Given the description of an element on the screen output the (x, y) to click on. 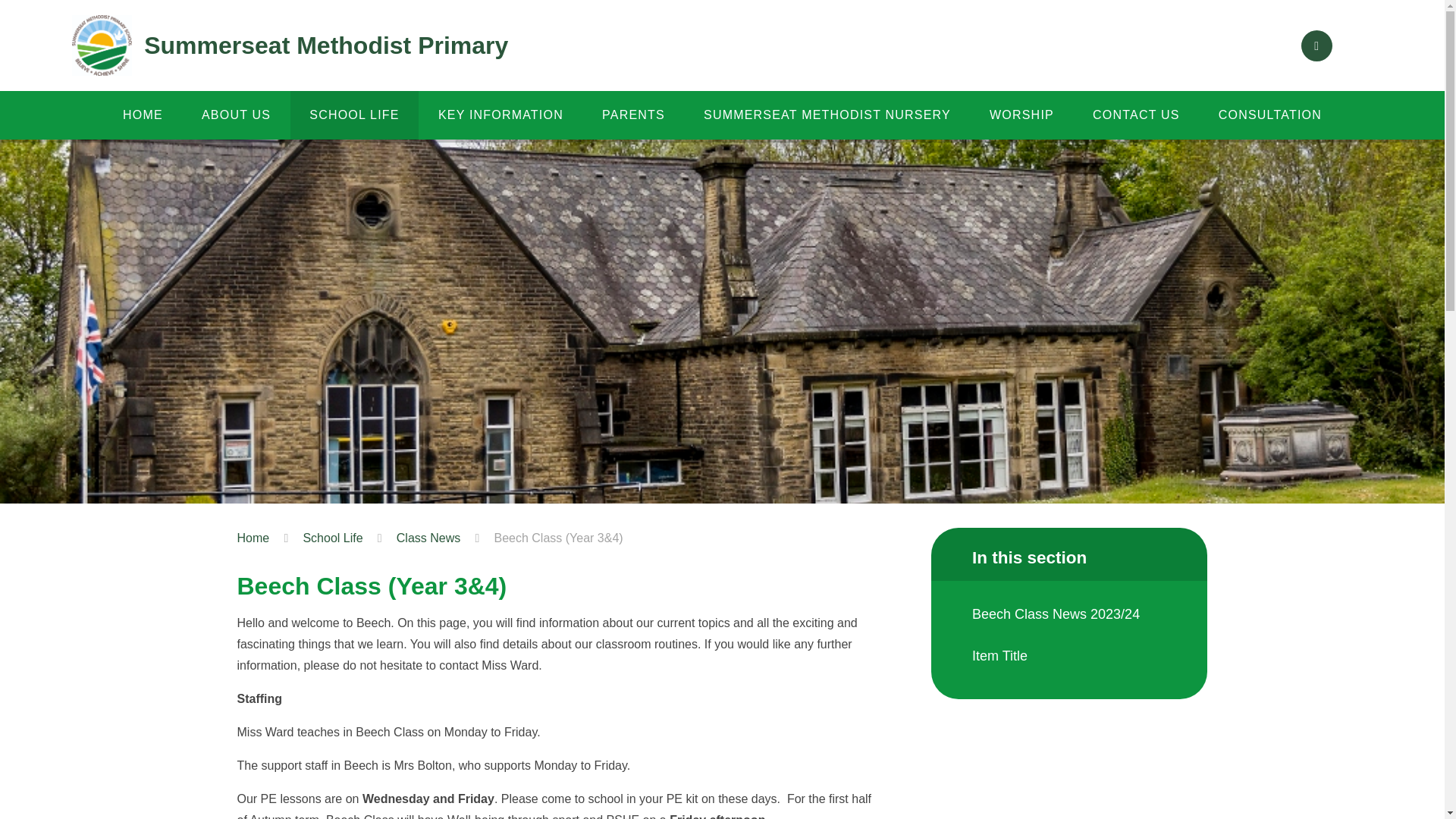
Summerseat Methodist Primary (289, 45)
HOME (142, 114)
KEY INFORMATION (500, 114)
ABOUT US (235, 114)
SCHOOL LIFE (354, 114)
